Given the description of an element on the screen output the (x, y) to click on. 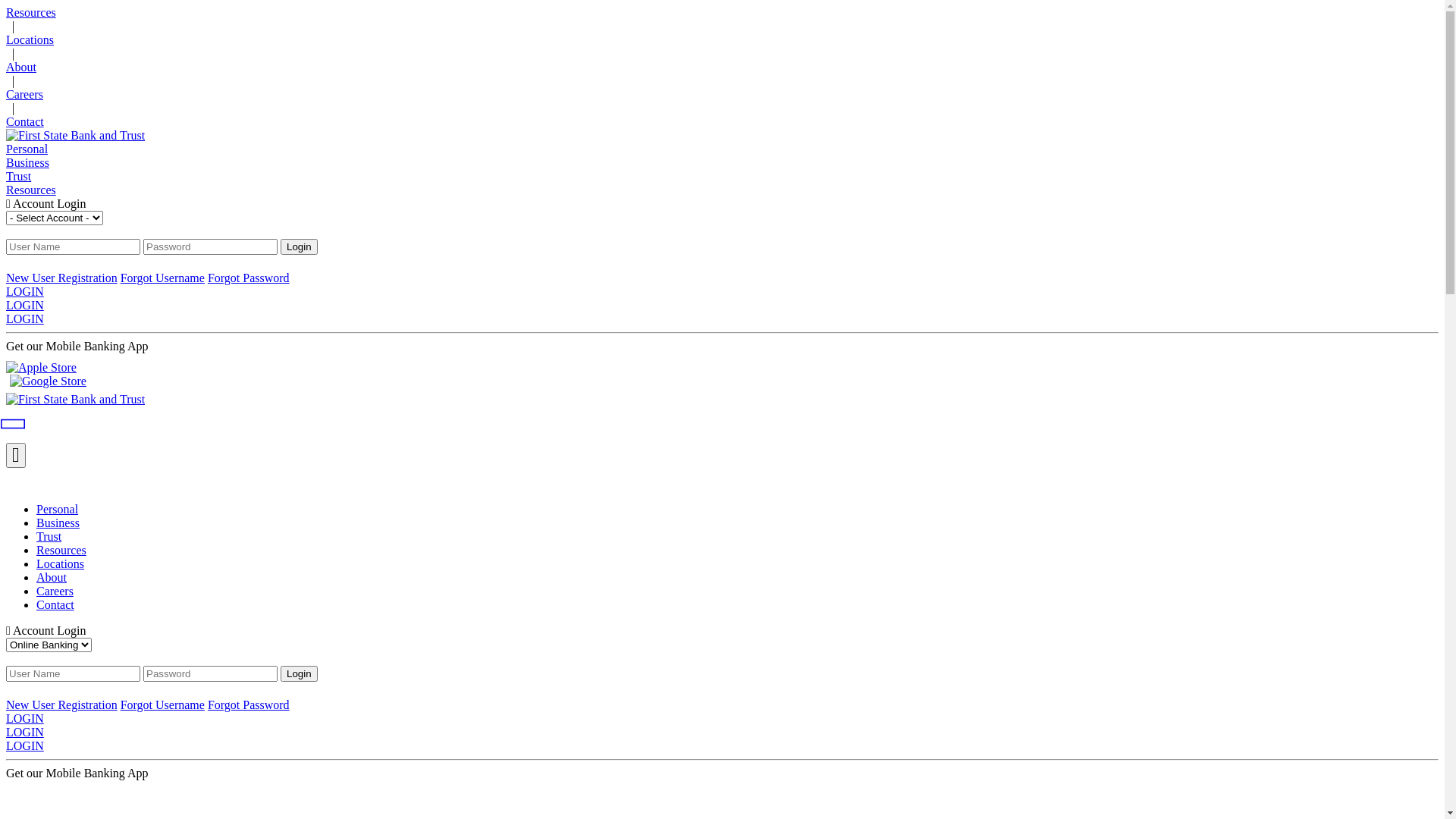
Forgot Password Element type: text (248, 704)
LOGIN Element type: text (722, 291)
Business Element type: text (722, 162)
Forgot Password Element type: text (248, 277)
LOGIN Element type: text (722, 732)
Resources Element type: text (737, 550)
Contact Element type: text (737, 604)
Resources Element type: text (722, 190)
LOGIN Element type: text (722, 718)
Login Element type: text (298, 246)
Trust Element type: text (737, 536)
Resources Element type: text (722, 12)
Contact Element type: text (722, 121)
Trust Element type: text (722, 176)
Locations Element type: text (722, 40)
Forgot Username Element type: text (162, 704)
Personal Element type: text (737, 509)
Personal Element type: text (722, 149)
LOGIN Element type: text (722, 746)
Login Element type: text (298, 673)
New User Registration Element type: text (61, 704)
Careers Element type: text (722, 94)
Forgot Username Element type: text (162, 277)
Careers Element type: text (737, 591)
LOGIN Element type: text (722, 319)
New User Registration Element type: text (61, 277)
LOGIN Element type: text (722, 305)
Locations Element type: text (737, 564)
Business Element type: text (737, 523)
About Element type: text (737, 577)
About Element type: text (722, 67)
